Given the description of an element on the screen output the (x, y) to click on. 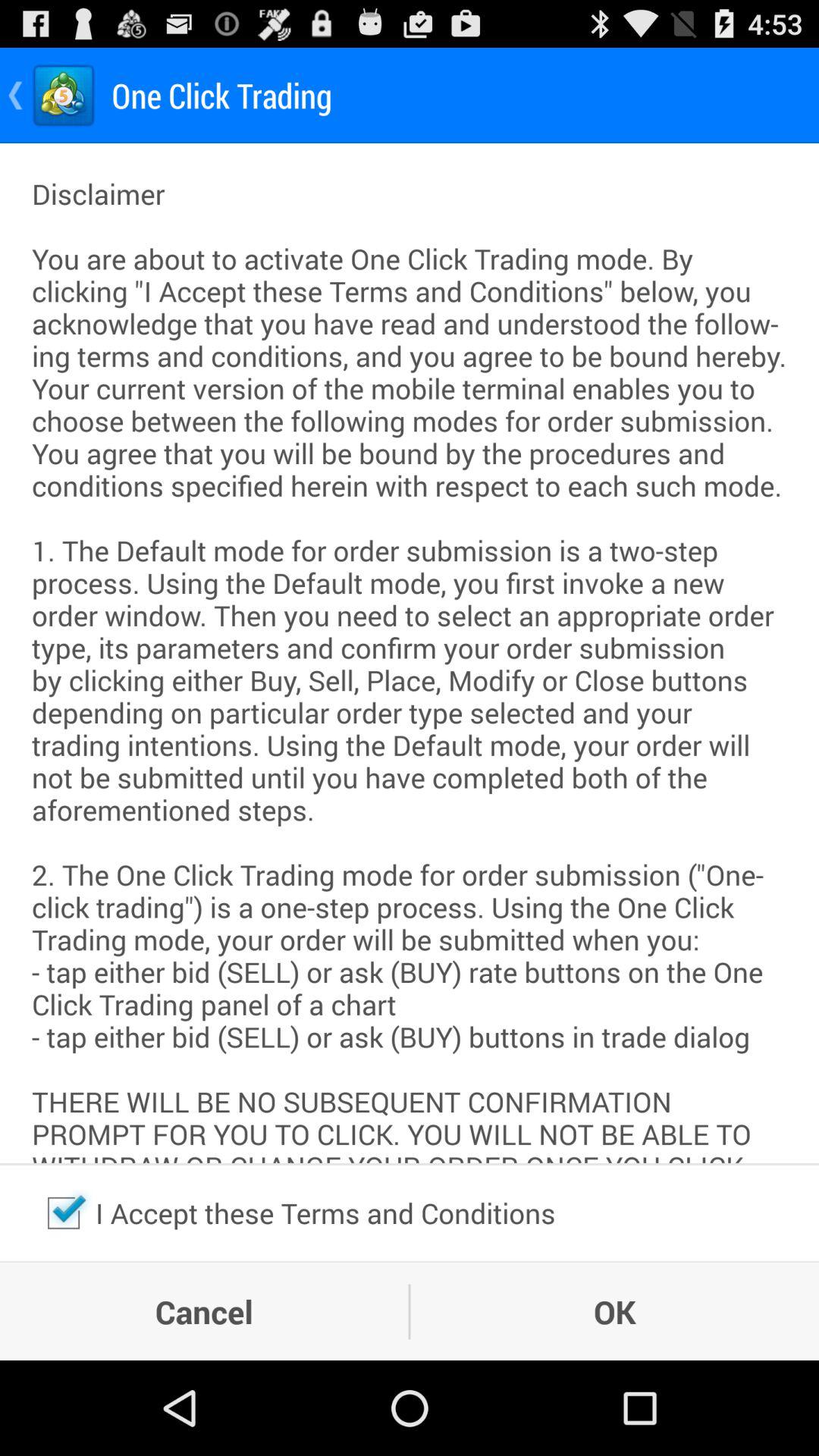
launch icon next to the i accept these item (63, 1212)
